Given the description of an element on the screen output the (x, y) to click on. 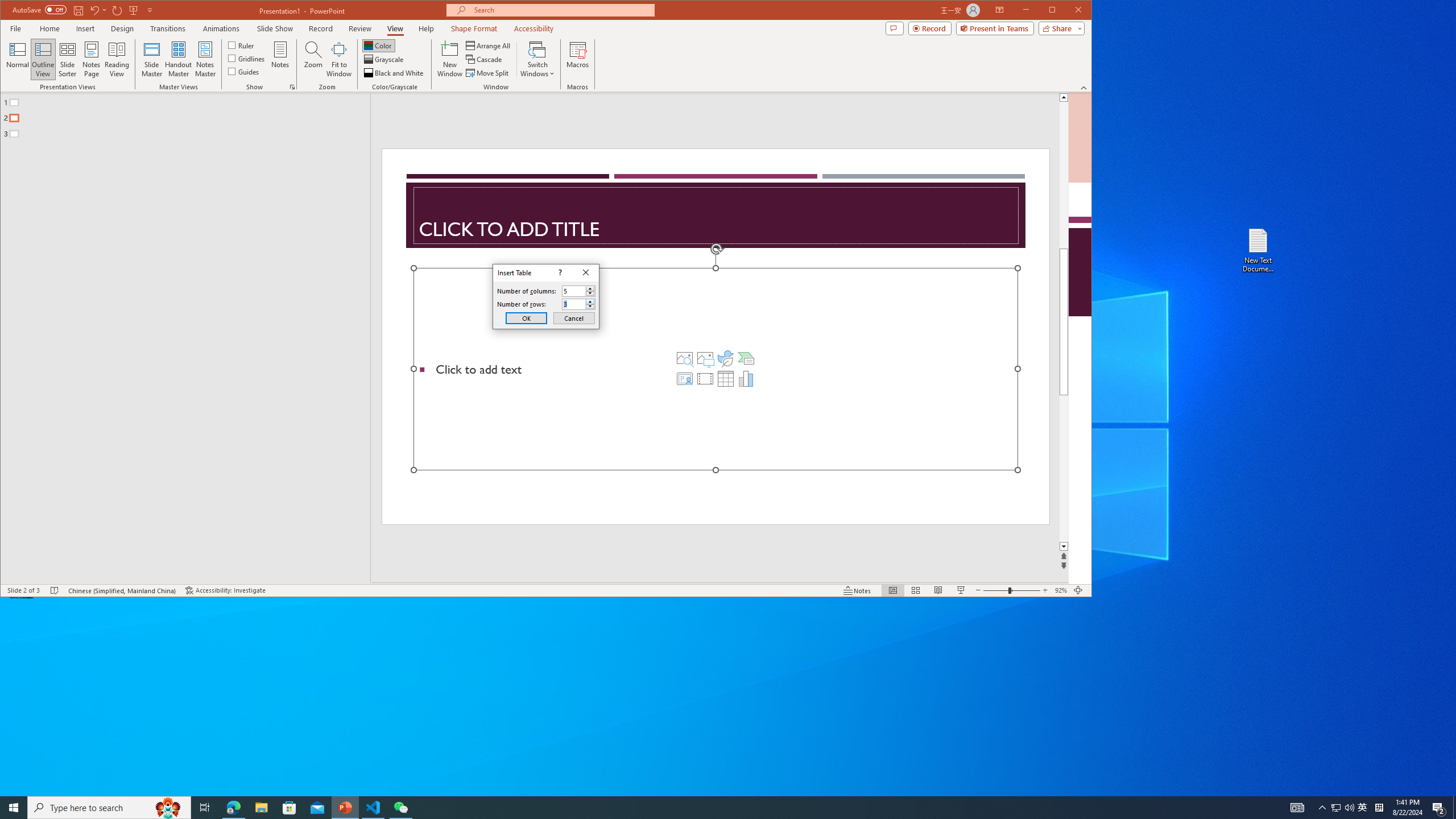
Color (378, 45)
Notes Master (204, 59)
Grayscale (384, 59)
Insert an Icon (725, 357)
Zoom 92% (1060, 590)
Insert Video (704, 378)
